Given the description of an element on the screen output the (x, y) to click on. 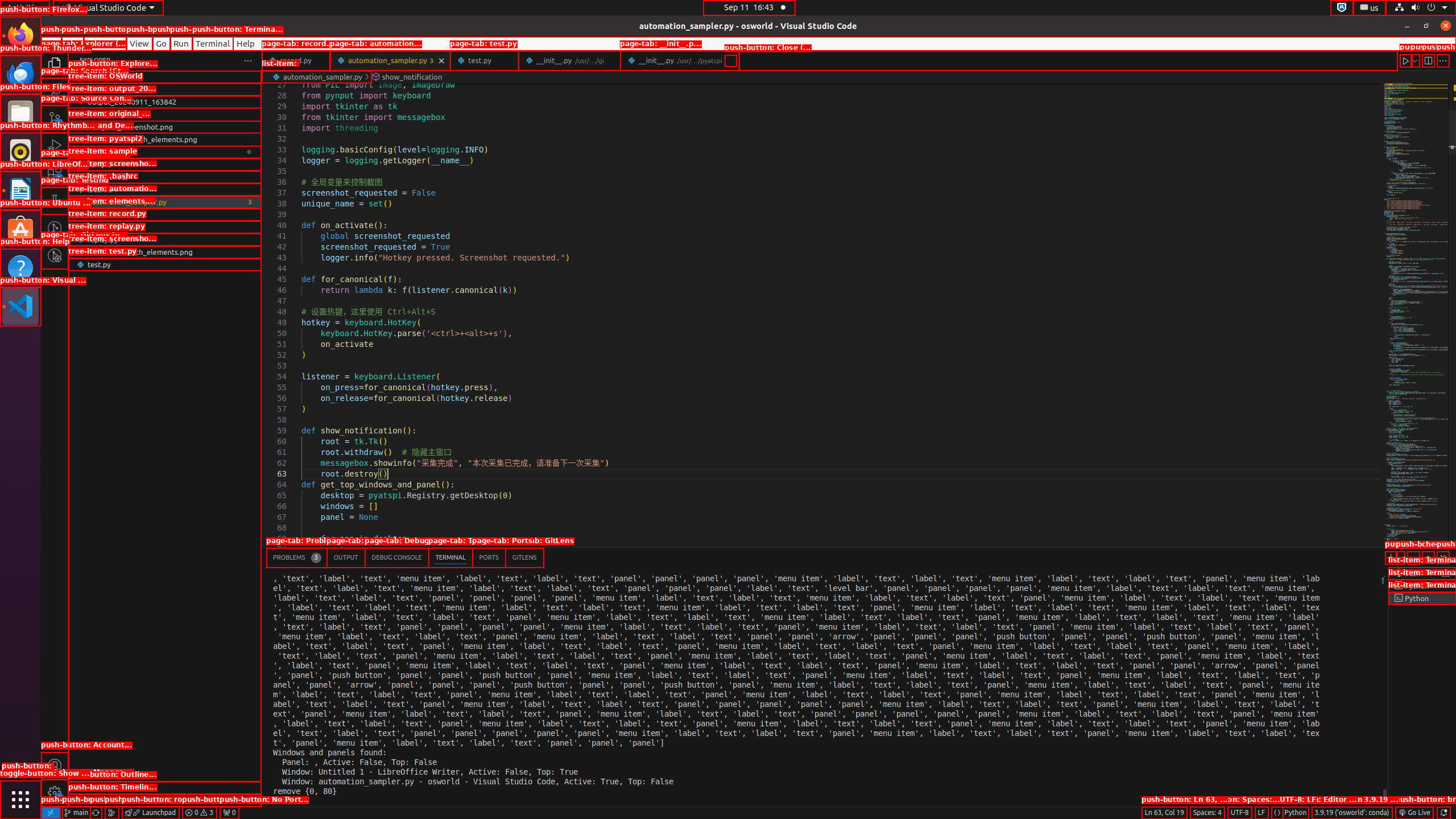
Python Element type: push-button (1295, 812)
OSWorld (Git) - main, Checkout Branch/Tag... Element type: push-button (75, 812)
Output (Ctrl+K Ctrl+H) Element type: page-tab (345, 557)
